Given the description of an element on the screen output the (x, y) to click on. 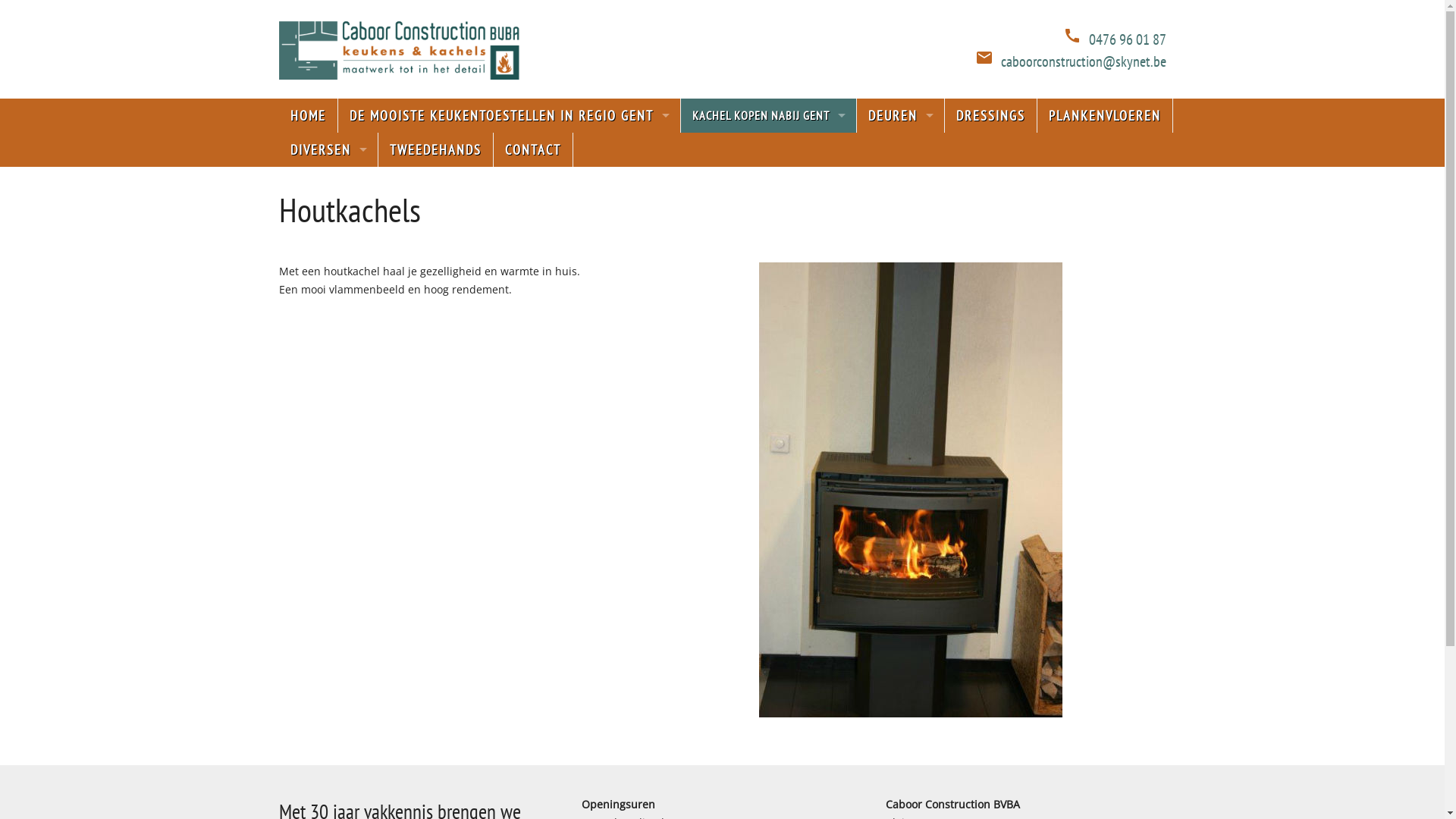
caboorconstruction@skynet.be Element type: text (1083, 61)
DEUREN Element type: text (900, 115)
MASSIEVE KEUKENS Element type: text (509, 149)
HOUTKACHELS Element type: text (768, 183)
DIVERSEN Element type: text (328, 149)
TWEEDEHANDS Element type: text (434, 149)
PLANKENVLOEREN Element type: text (1105, 115)
MEUBELEN OP MAAT Element type: text (328, 183)
FORNUIZEN Element type: text (768, 286)
DE MOOISTE KEUKENTOESTELLEN IN REGIO GENT Element type: text (509, 115)
HOME Element type: text (308, 115)
KACHEL KOPEN NABIJ GENT Element type: text (768, 115)
MODERNE KEUKENS Element type: text (509, 252)
ELECTRISCHE KACHELS Element type: text (768, 252)
CONTACT Element type: text (532, 149)
DRESSINGS Element type: text (990, 115)
PELLETKACHELS IN REGIO GENT Element type: text (768, 149)
BINNENDEUREN Element type: text (900, 149)
GASKACHELS Element type: text (768, 217)
EIGENTIJDSE KEUKENS Element type: text (509, 183)
LANDELIJKE KEUKENS Element type: text (509, 217)
0476 96 01 87 Element type: text (1127, 39)
SFEERBEELDEN Element type: text (328, 217)
